Given the description of an element on the screen output the (x, y) to click on. 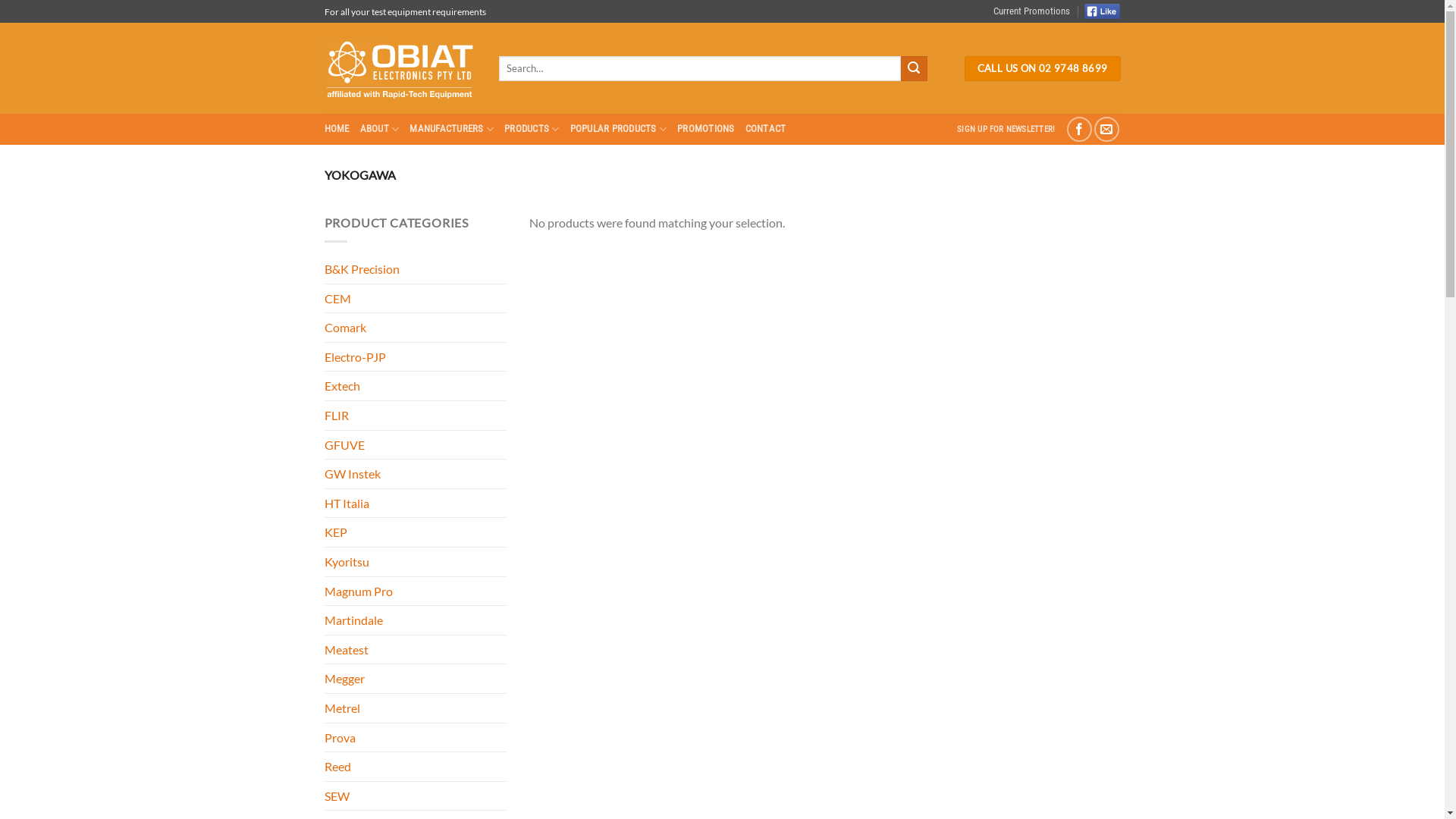
Prova Element type: text (415, 737)
Send us an email Element type: hover (1106, 128)
KEP Element type: text (415, 531)
Comark Element type: text (415, 327)
PRODUCTS Element type: text (531, 128)
Extech Element type: text (415, 385)
Martindale Element type: text (415, 619)
CONTACT Element type: text (765, 128)
MANUFACTURERS Element type: text (451, 128)
Metrel Element type: text (415, 707)
CALL US ON 02 9748 8699 Element type: text (1042, 68)
Meatest Element type: text (415, 649)
FLIR Element type: text (415, 415)
Follow on Facebook Element type: hover (1079, 128)
SEW Element type: text (415, 795)
Kyoritsu Element type: text (415, 561)
B&K Precision Element type: text (415, 268)
CEM Element type: text (415, 298)
POPULAR PRODUCTS Element type: text (618, 128)
PROMOTIONS Element type: text (705, 128)
GFUVE Element type: text (415, 444)
HOME Element type: text (336, 128)
HT Italia Element type: text (415, 503)
Search Element type: text (913, 68)
Reed Element type: text (415, 766)
SIGN UP FOR NEWSLETTER! Element type: text (1005, 129)
GW Instek Element type: text (415, 473)
ABOUT Element type: text (379, 128)
Magnum Pro Element type: text (415, 591)
Electro-PJP Element type: text (415, 356)
Obiat Electronics - keeping your industry up and running Element type: hover (400, 68)
Megger Element type: text (415, 678)
Current Promotions Element type: text (1031, 11)
